Given the description of an element on the screen output the (x, y) to click on. 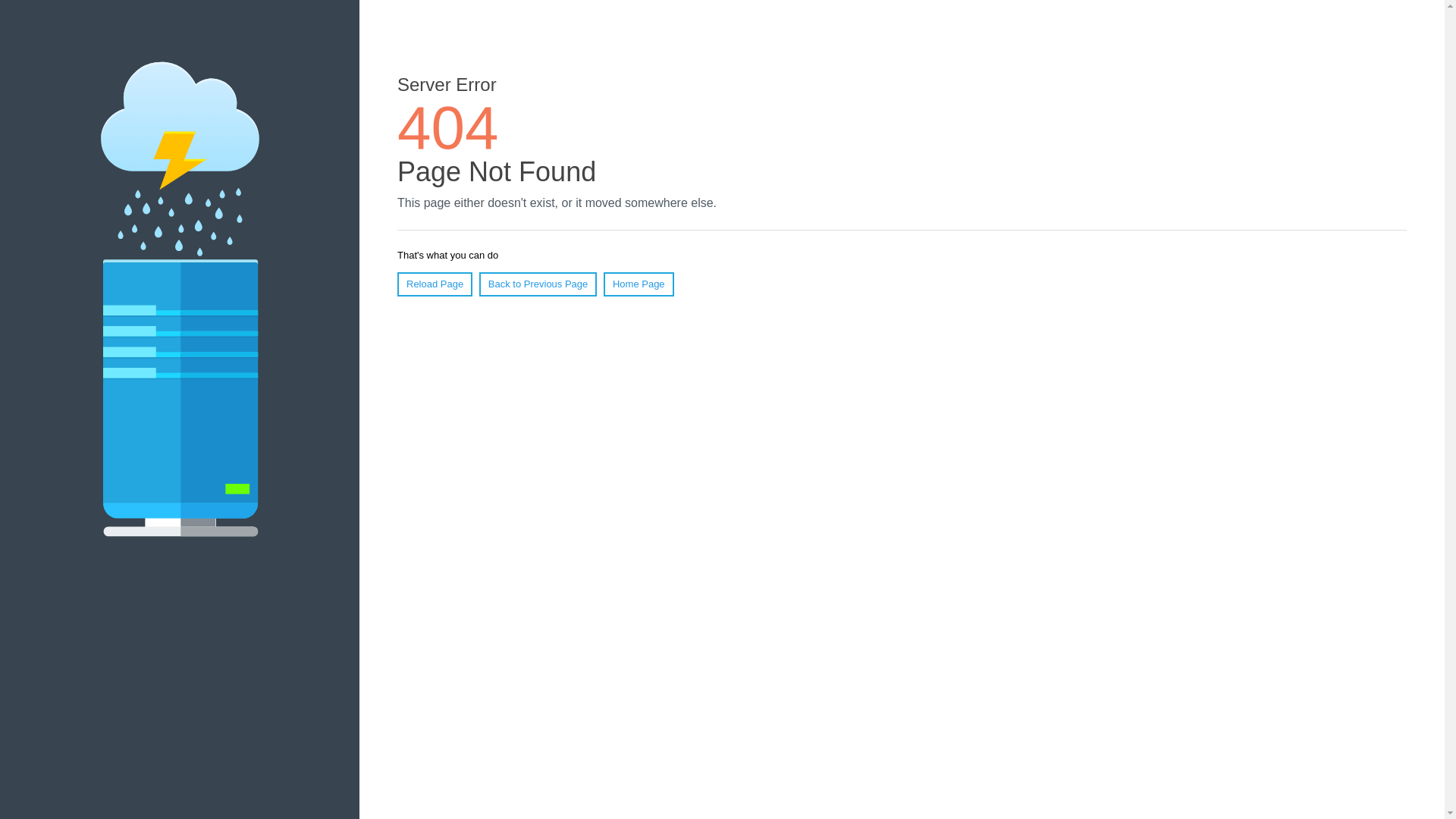
Back to Previous Page (537, 283)
Reload Page (434, 283)
Home Page (639, 283)
